Given the description of an element on the screen output the (x, y) to click on. 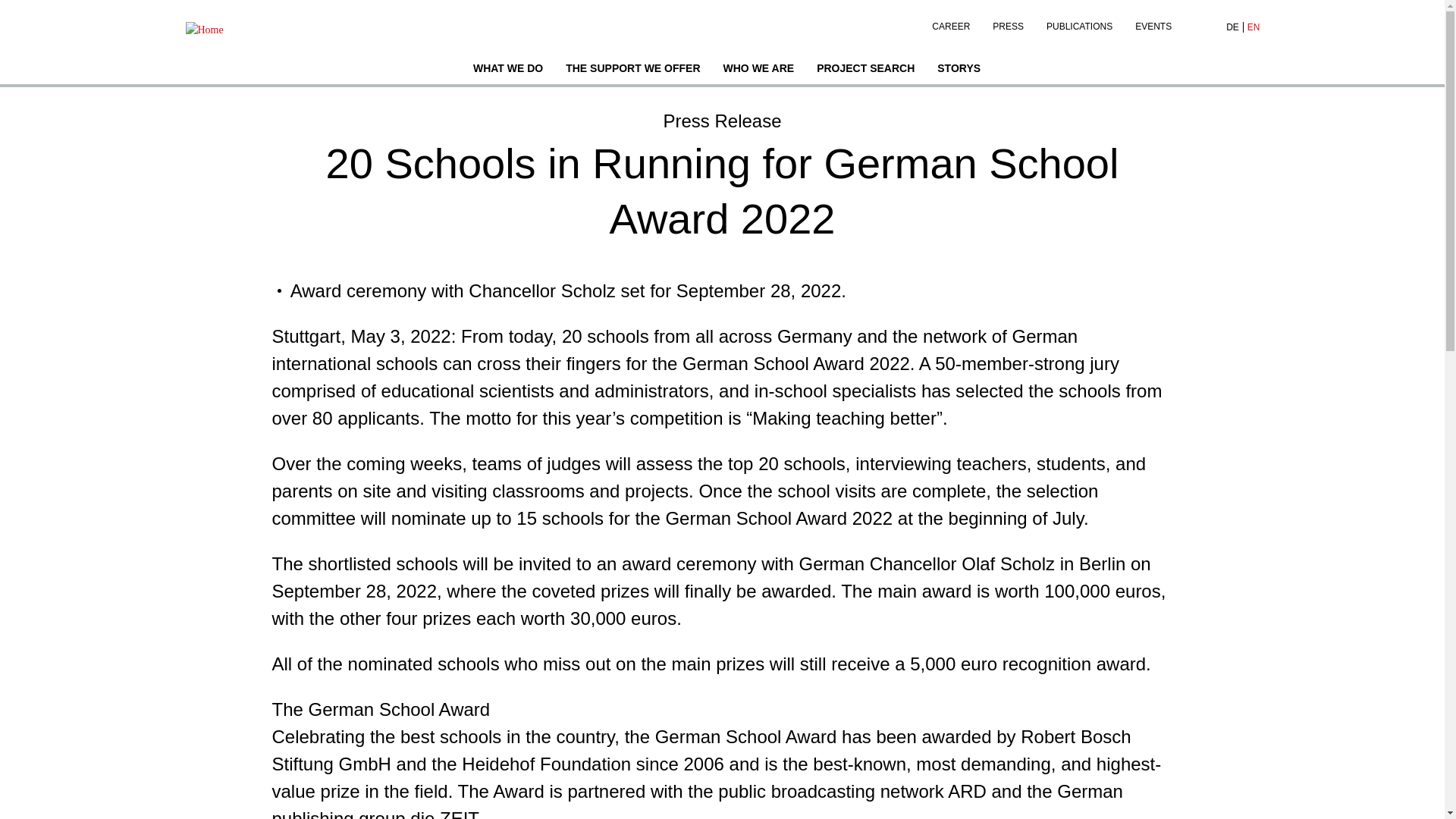
PRESS (1008, 22)
PROJECT SEARCH (865, 69)
EN (1253, 27)
WHAT WE DO (507, 69)
German (1233, 27)
PUBLICATIONS (1079, 22)
CAREER (950, 22)
DE (1233, 27)
English (1253, 27)
Search (1196, 27)
